Given the description of an element on the screen output the (x, y) to click on. 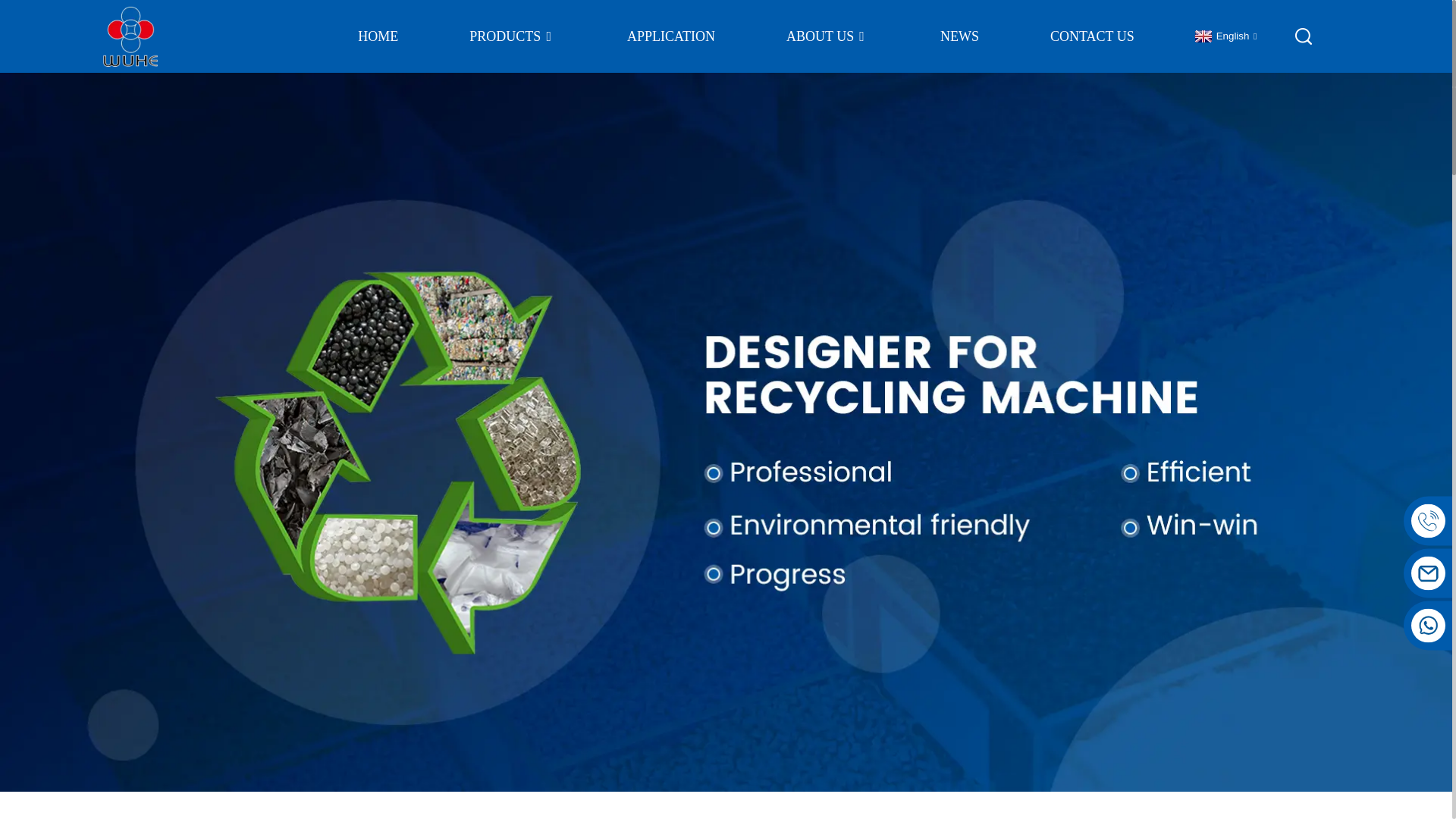
APPLICATION (670, 36)
ABOUT US (827, 36)
PRODUCTS (512, 36)
English (1224, 35)
HOME (377, 36)
NEWS (959, 36)
CONTACT US (1091, 36)
